Given the description of an element on the screen output the (x, y) to click on. 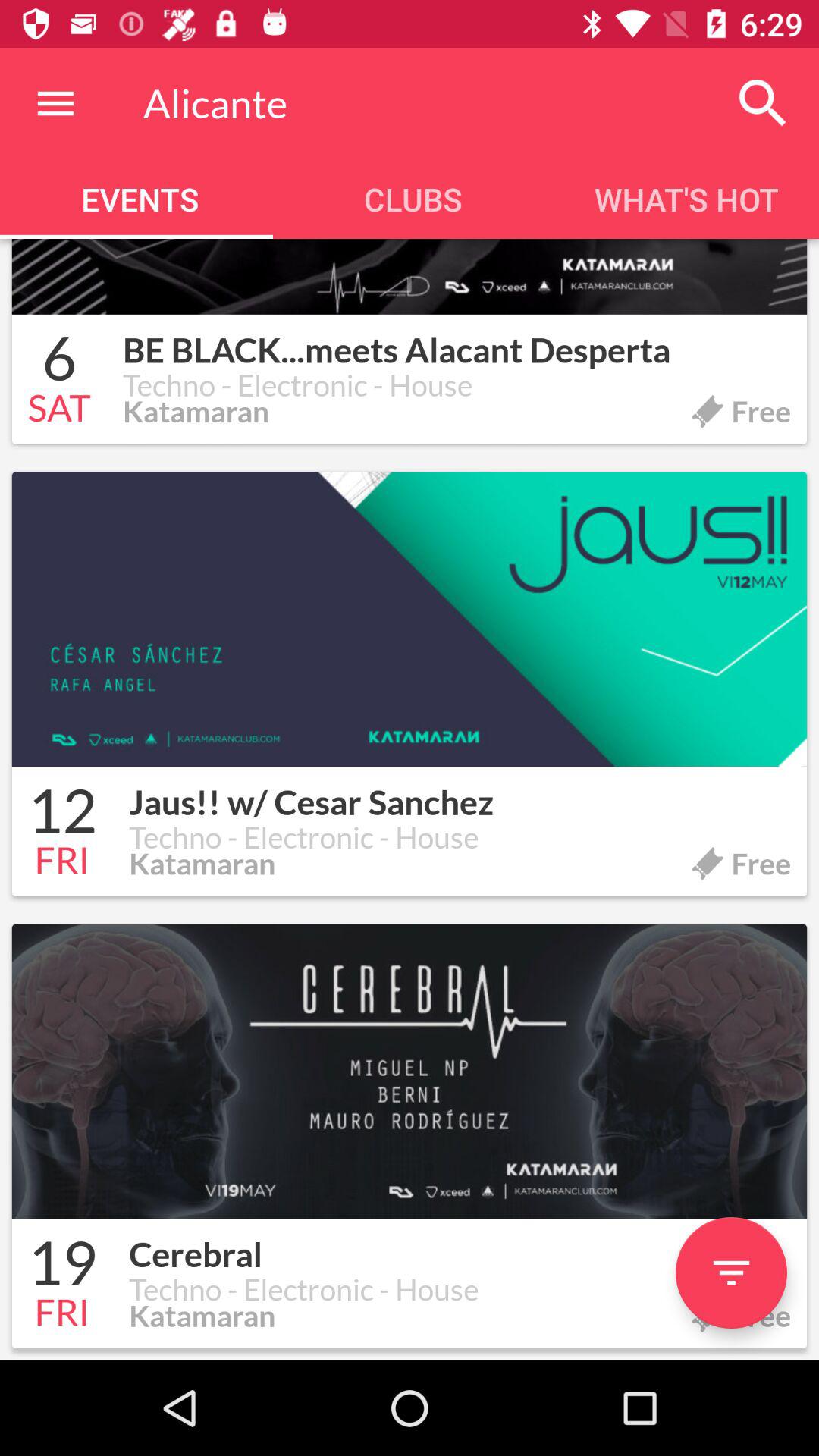
press icon below 6 (59, 409)
